Given the description of an element on the screen output the (x, y) to click on. 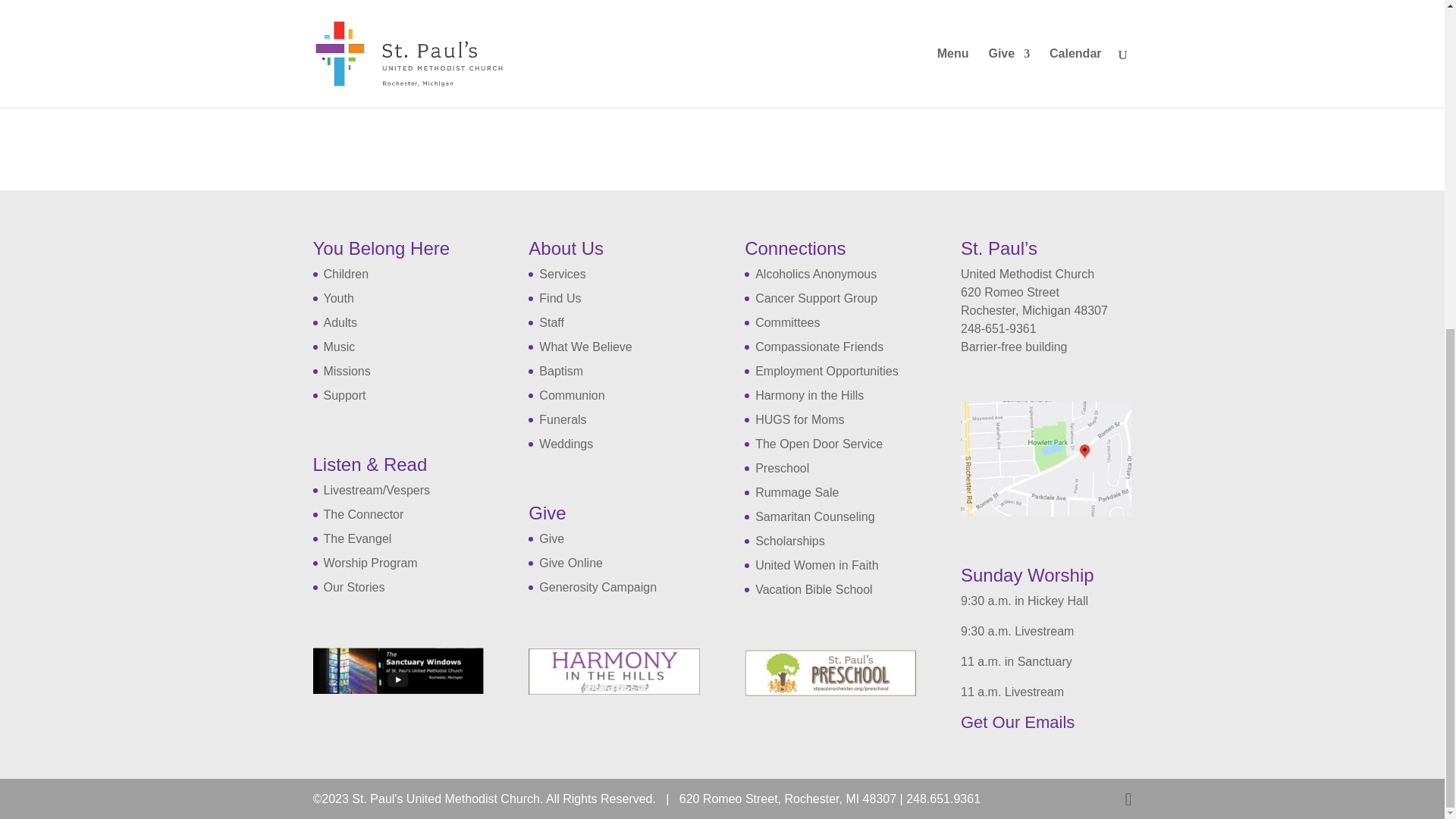
Adults (339, 322)
Support (344, 395)
Worship Program (369, 562)
The Connector (363, 513)
The Evangel (357, 538)
Children (345, 273)
Staff (551, 322)
Services (561, 273)
Find Us (559, 297)
Youth (338, 297)
